Given the description of an element on the screen output the (x, y) to click on. 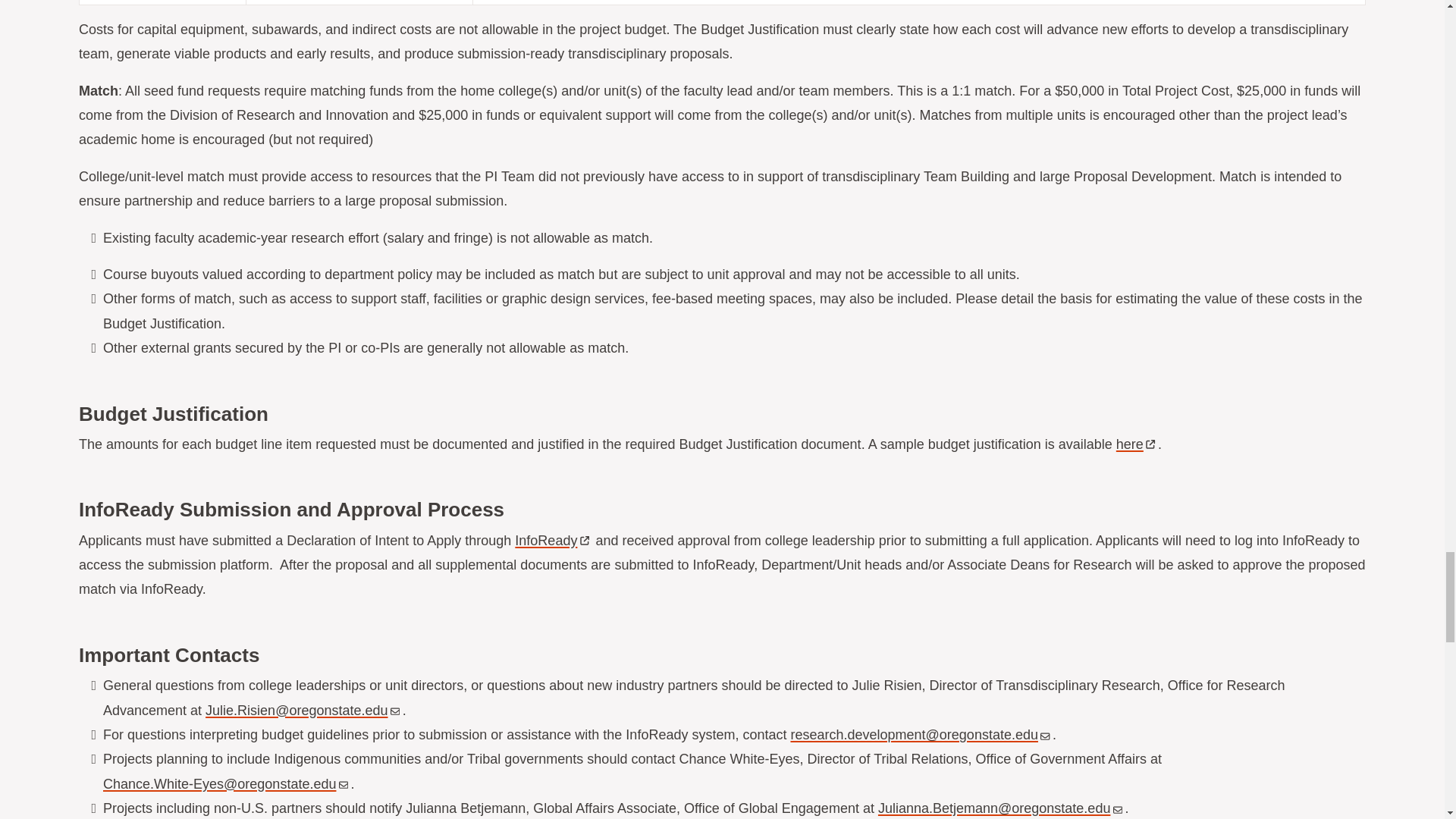
Link is external (1149, 440)
Link sends email (1045, 731)
Link sends email (394, 706)
Link sends email (343, 780)
Link sends email (1117, 804)
Link is external (584, 537)
